Given the description of an element on the screen output the (x, y) to click on. 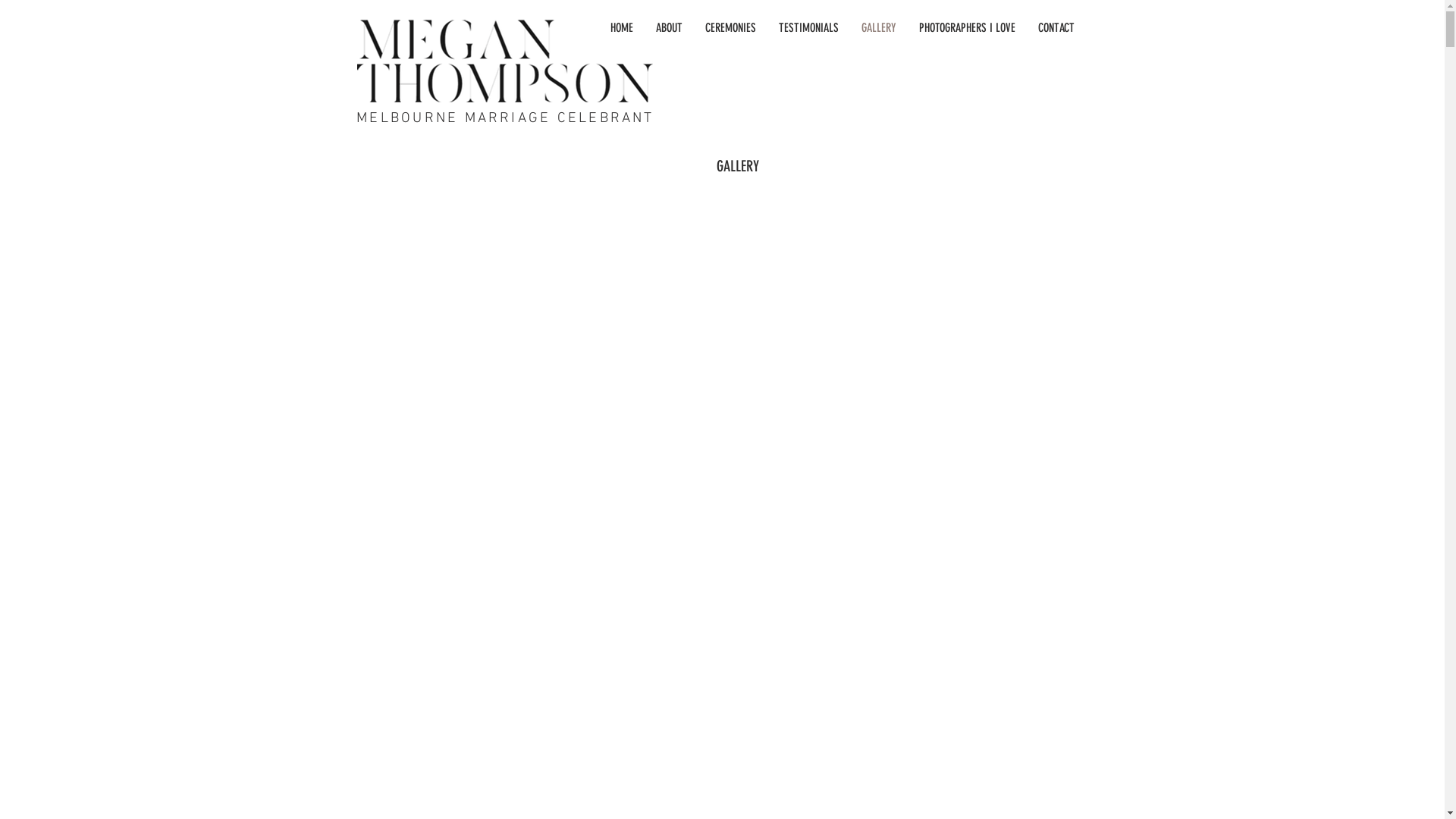
TESTIMONIALS Element type: text (808, 29)
CEREMONIES Element type: text (729, 29)
MELBOURNE MARRIAGE CELEBRANT Element type: text (504, 118)
ABOUT Element type: text (668, 29)
PHOTOGRAPHERS I LOVE Element type: text (966, 29)
HOME Element type: text (621, 29)
CONTACT Element type: text (1055, 29)
GALLERY Element type: text (877, 29)
